Given the description of an element on the screen output the (x, y) to click on. 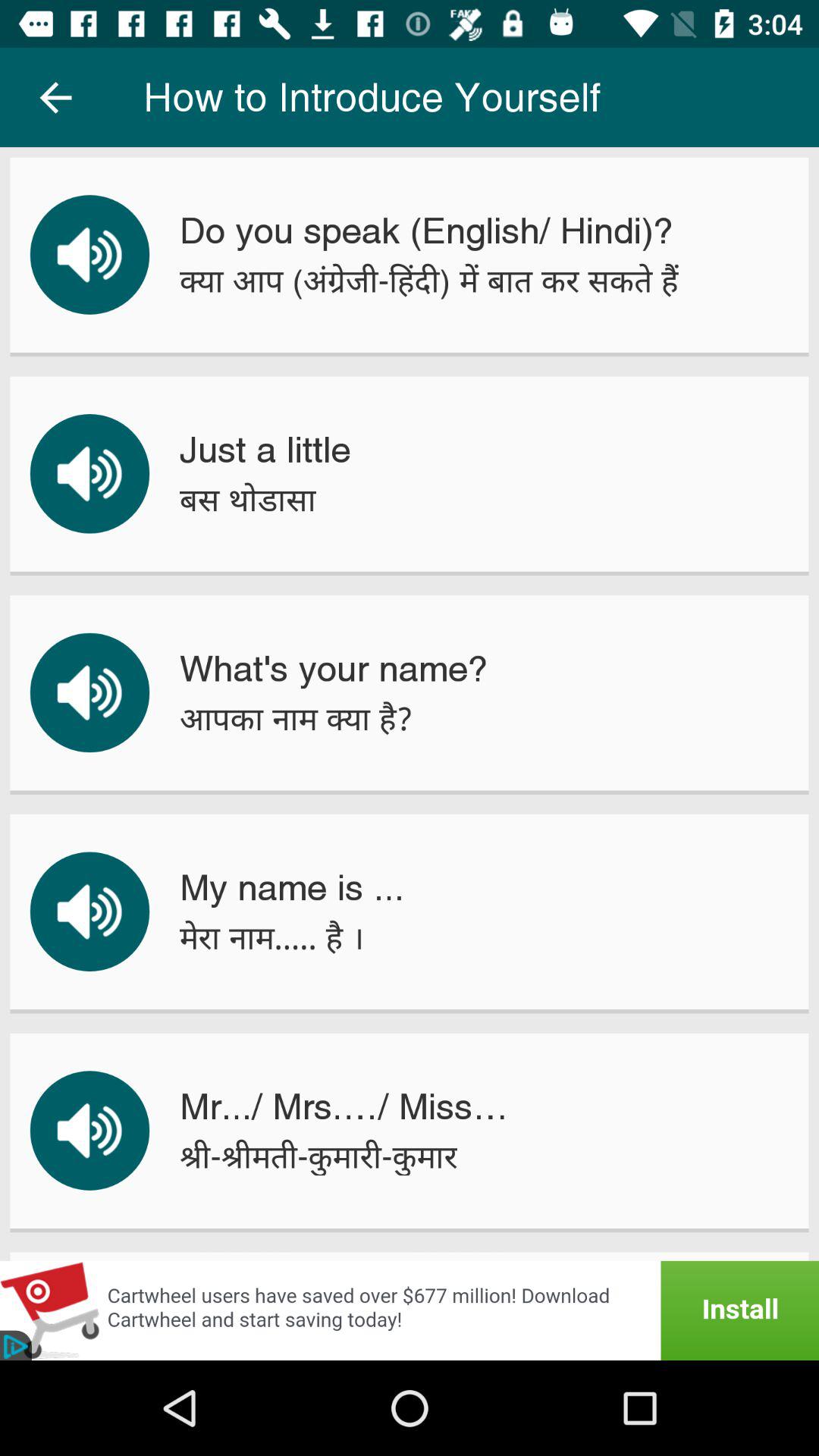
open do you speak icon (426, 230)
